Given the description of an element on the screen output the (x, y) to click on. 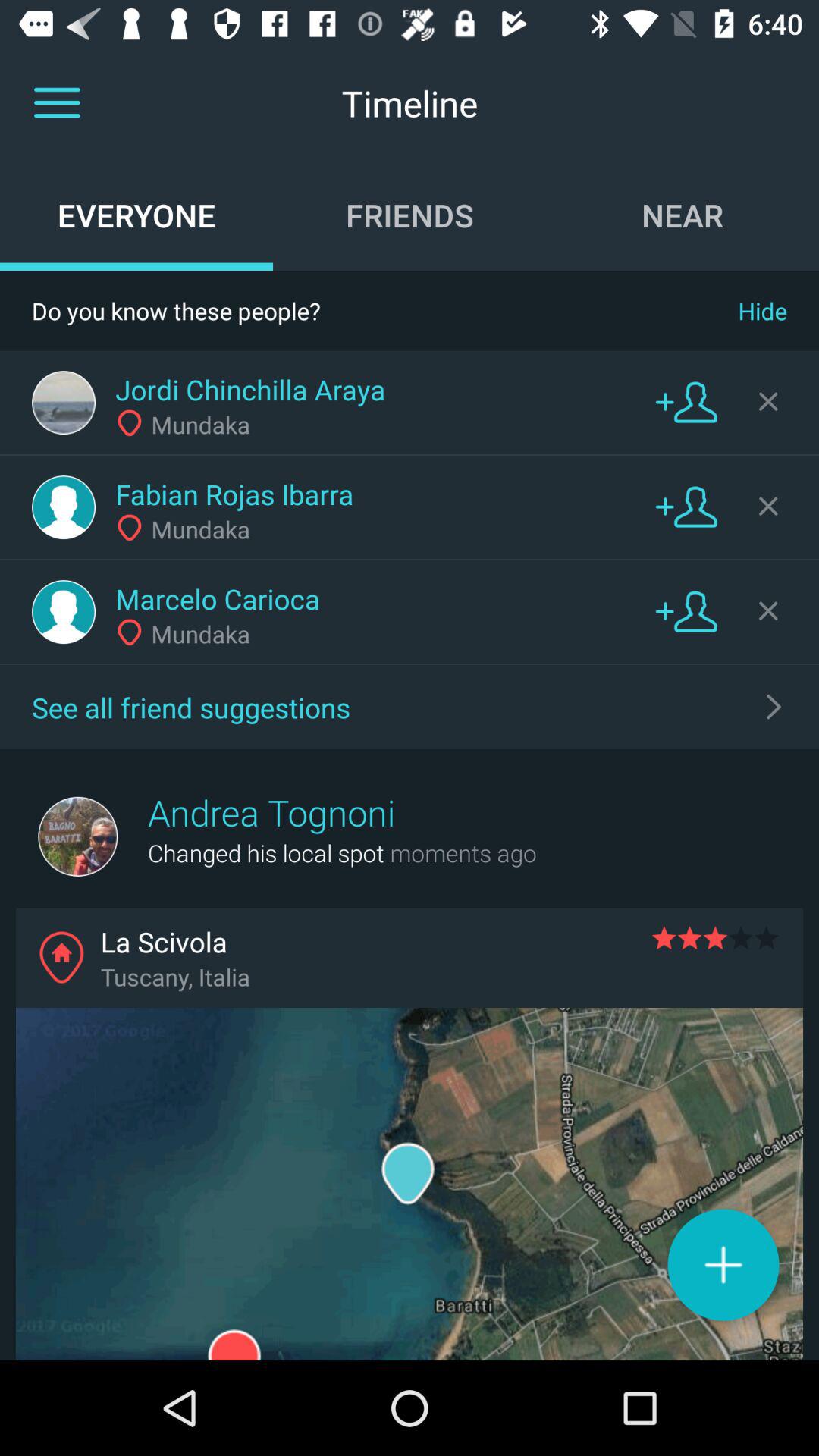
select the item below the see all friend item (271, 812)
